Given the description of an element on the screen output the (x, y) to click on. 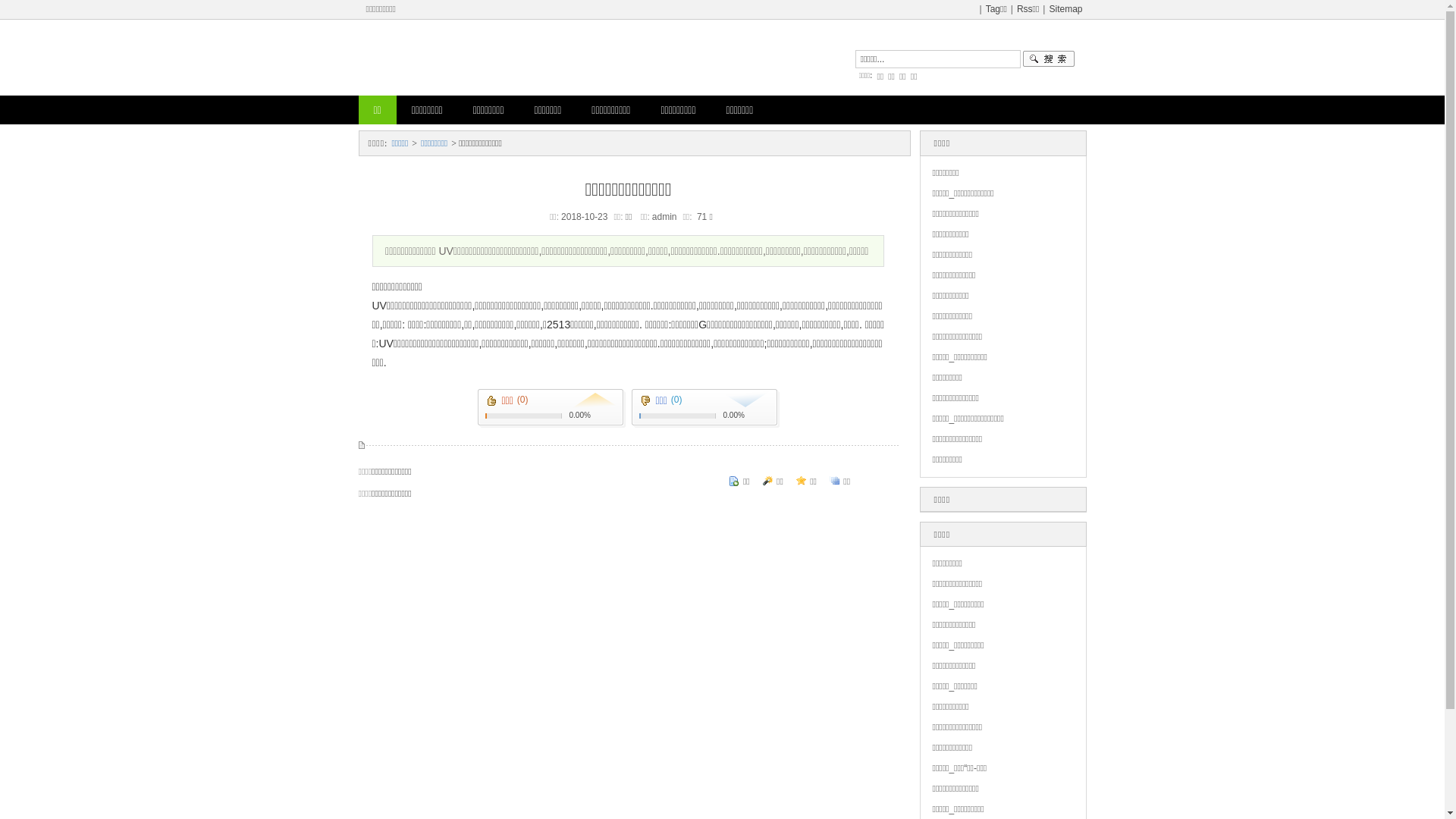
http://zu.360yoka.com Element type: text (603, 57)
Sitemap Element type: text (1065, 8)
